Given the description of an element on the screen output the (x, y) to click on. 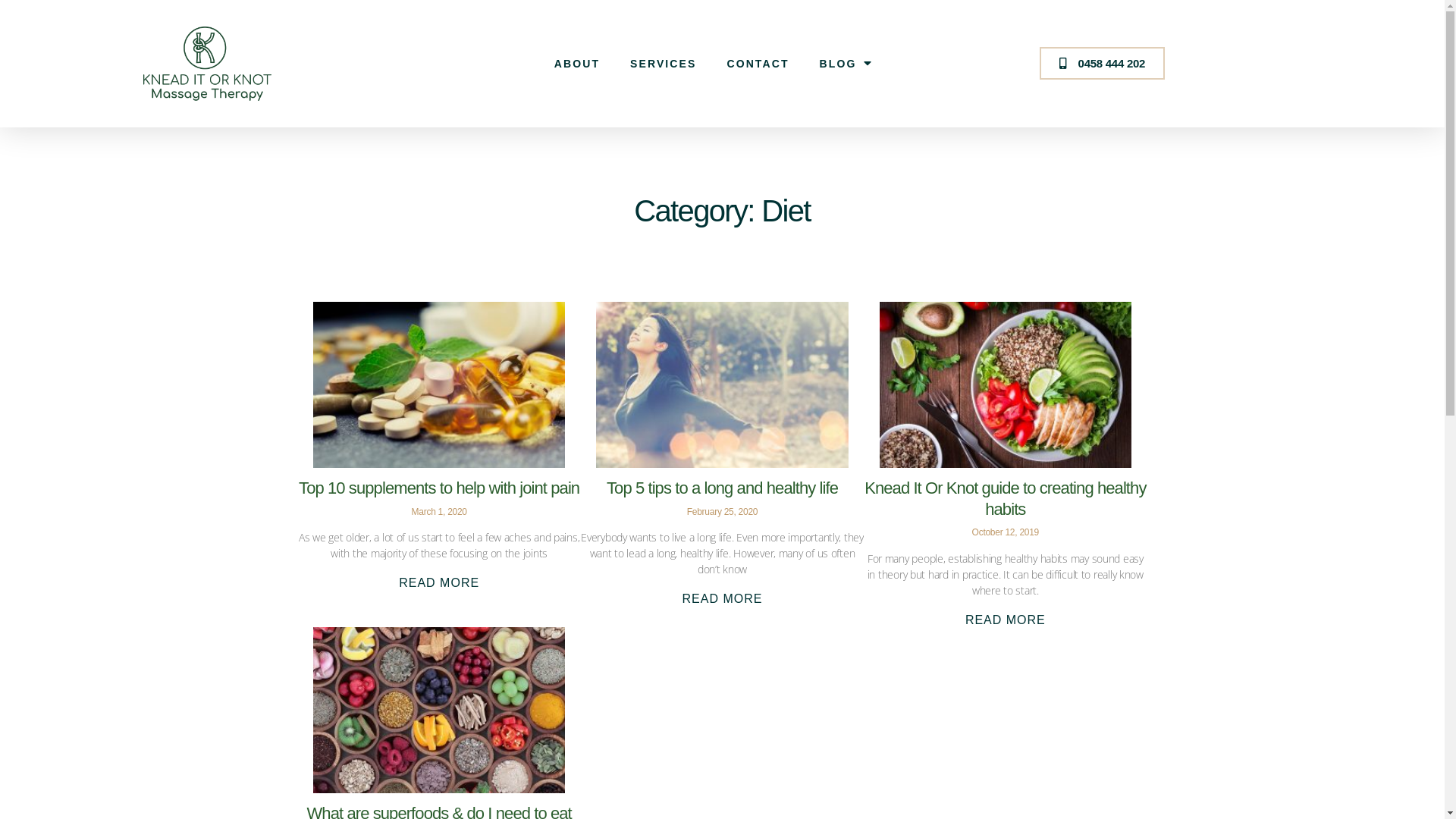
CONTACT Element type: text (757, 63)
SERVICES Element type: text (663, 63)
Knead It Or Knot guide to creating healthy habits Element type: text (1004, 498)
ABOUT Element type: text (577, 63)
BLOG Element type: text (846, 63)
0458 444 202 Element type: text (1101, 63)
READ MORE Element type: text (1005, 619)
Top 5 tips to a long and healthy life Element type: text (721, 487)
READ MORE Element type: text (438, 582)
READ MORE Element type: text (722, 598)
Top 10 supplements to help with joint pain Element type: text (438, 487)
